Given the description of an element on the screen output the (x, y) to click on. 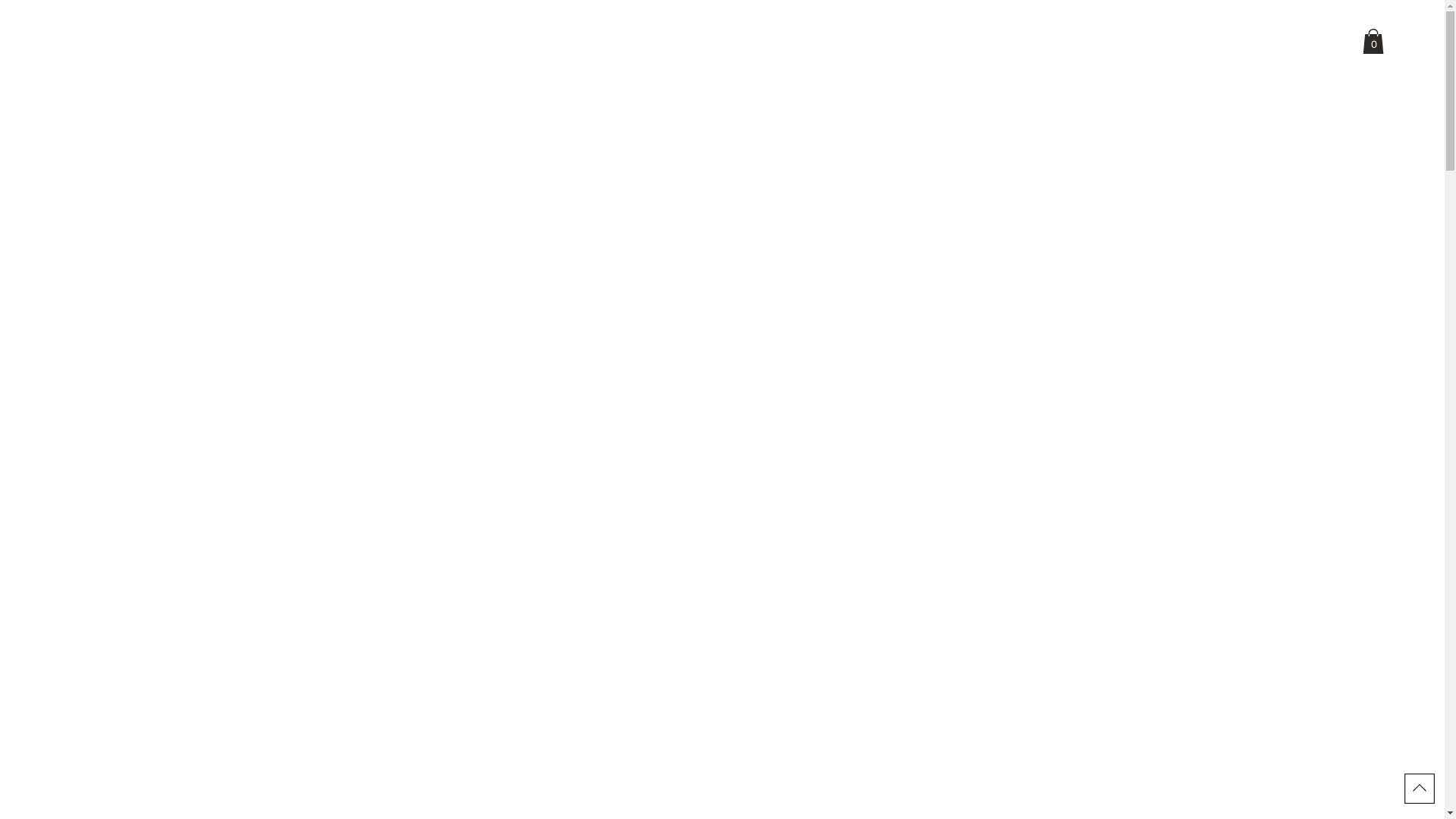
0 Element type: text (1372, 40)
